Given the description of an element on the screen output the (x, y) to click on. 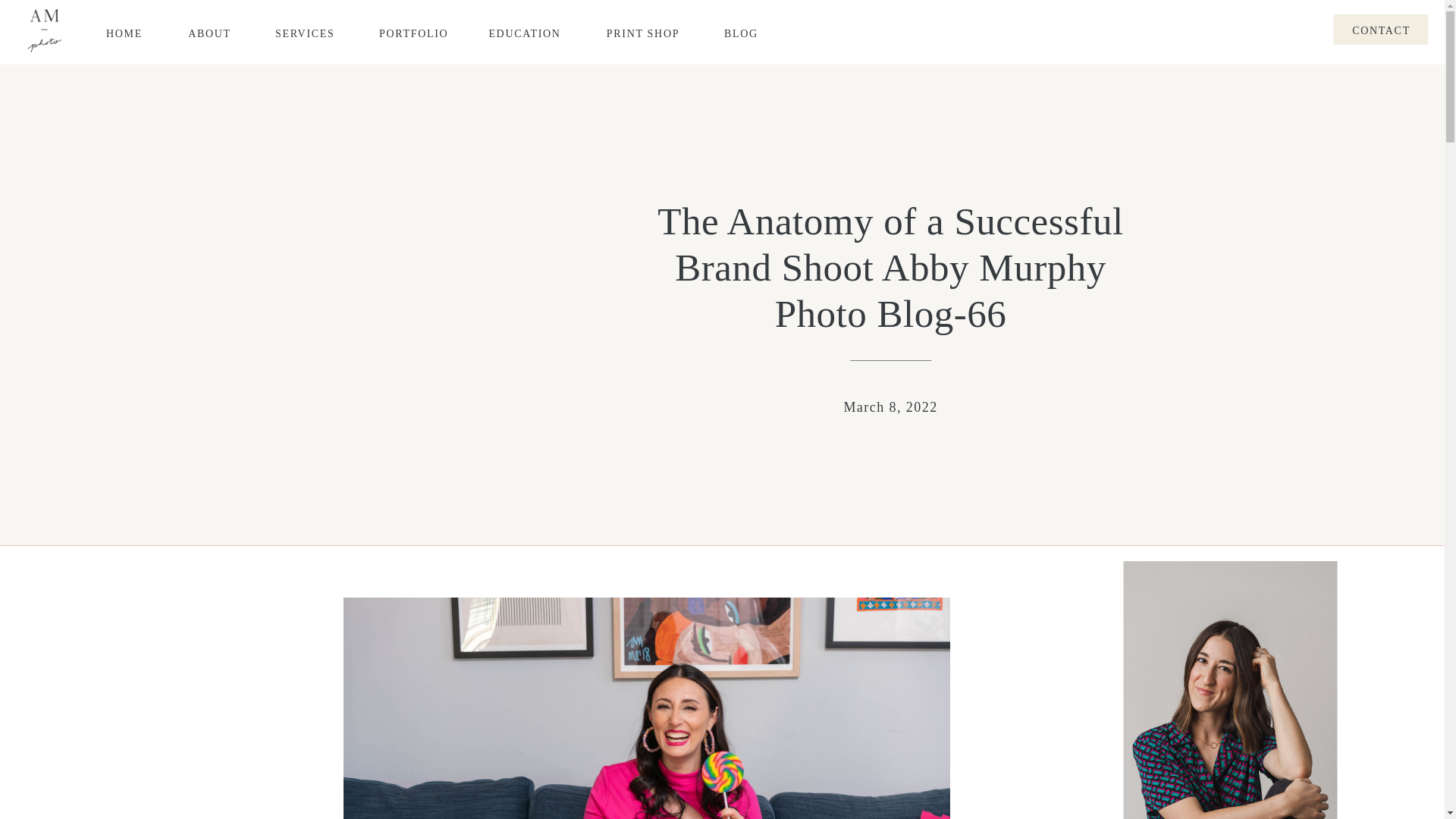
HOME (124, 32)
EDUCATION (524, 32)
SERVICES (304, 32)
PORTFOLIO (411, 32)
ABOUT (209, 32)
PRINT SHOP (642, 32)
BLOG (740, 32)
CONTACT (1381, 28)
